Given the description of an element on the screen output the (x, y) to click on. 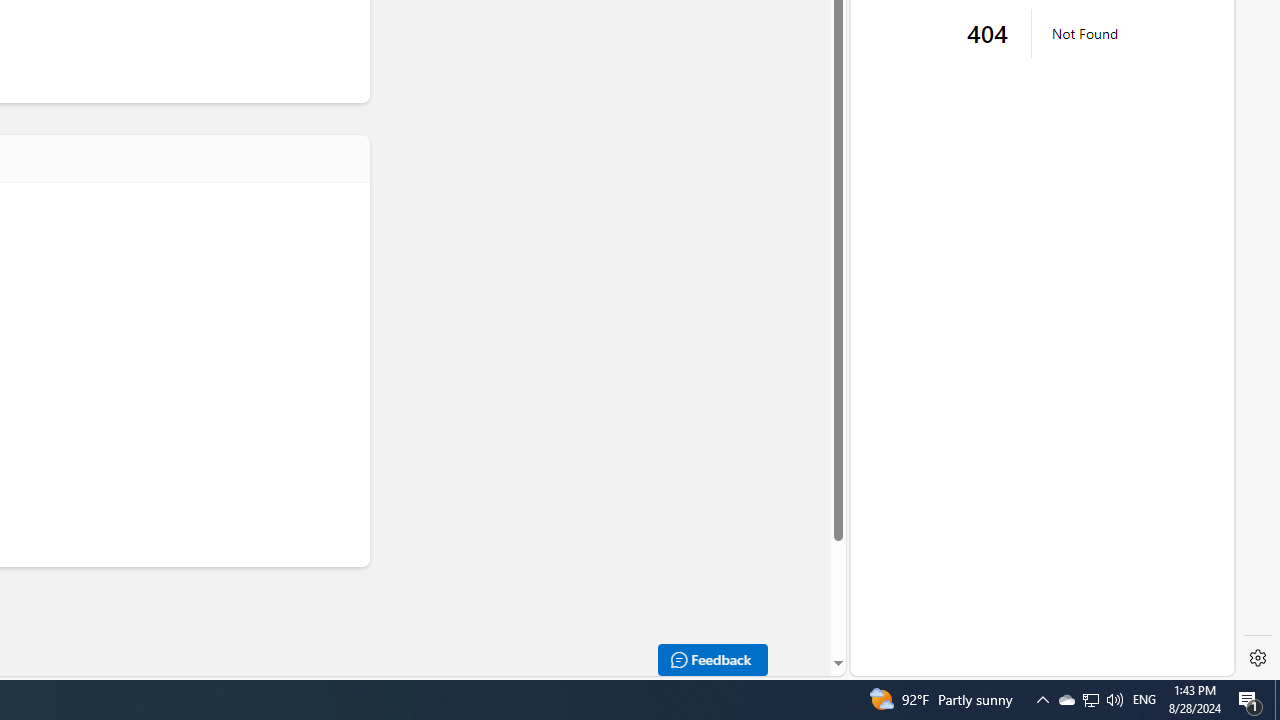
Explore poe (1034, 595)
Learn how your ads are chosen (1045, 34)
Poe - Fast AI Chat (1034, 435)
SERP,5405 (1034, 68)
https://www.sekorm.com (972, 31)
Poe - Poe (1034, 252)
Settings (1258, 658)
Poe (1034, 419)
Global web icon (888, 421)
